Given the description of an element on the screen output the (x, y) to click on. 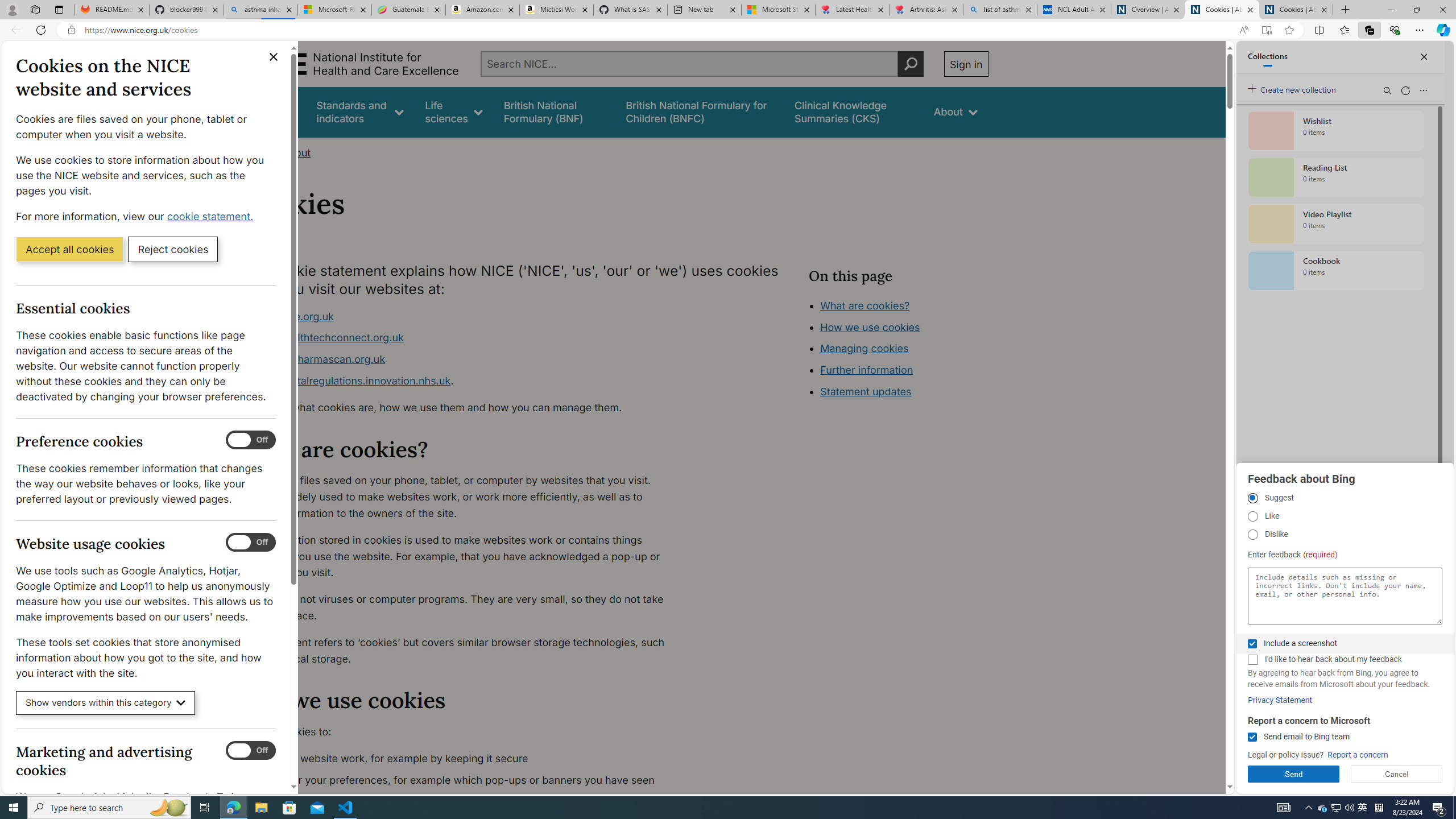
British National Formulary for Children (BNFC) (699, 111)
Accept all cookies (69, 248)
www.nice.org.uk (464, 316)
Website usage cookies (250, 542)
Marketing and advertising cookies (250, 750)
Preference cookies (250, 439)
How we use cookies (909, 389)
